Given the description of an element on the screen output the (x, y) to click on. 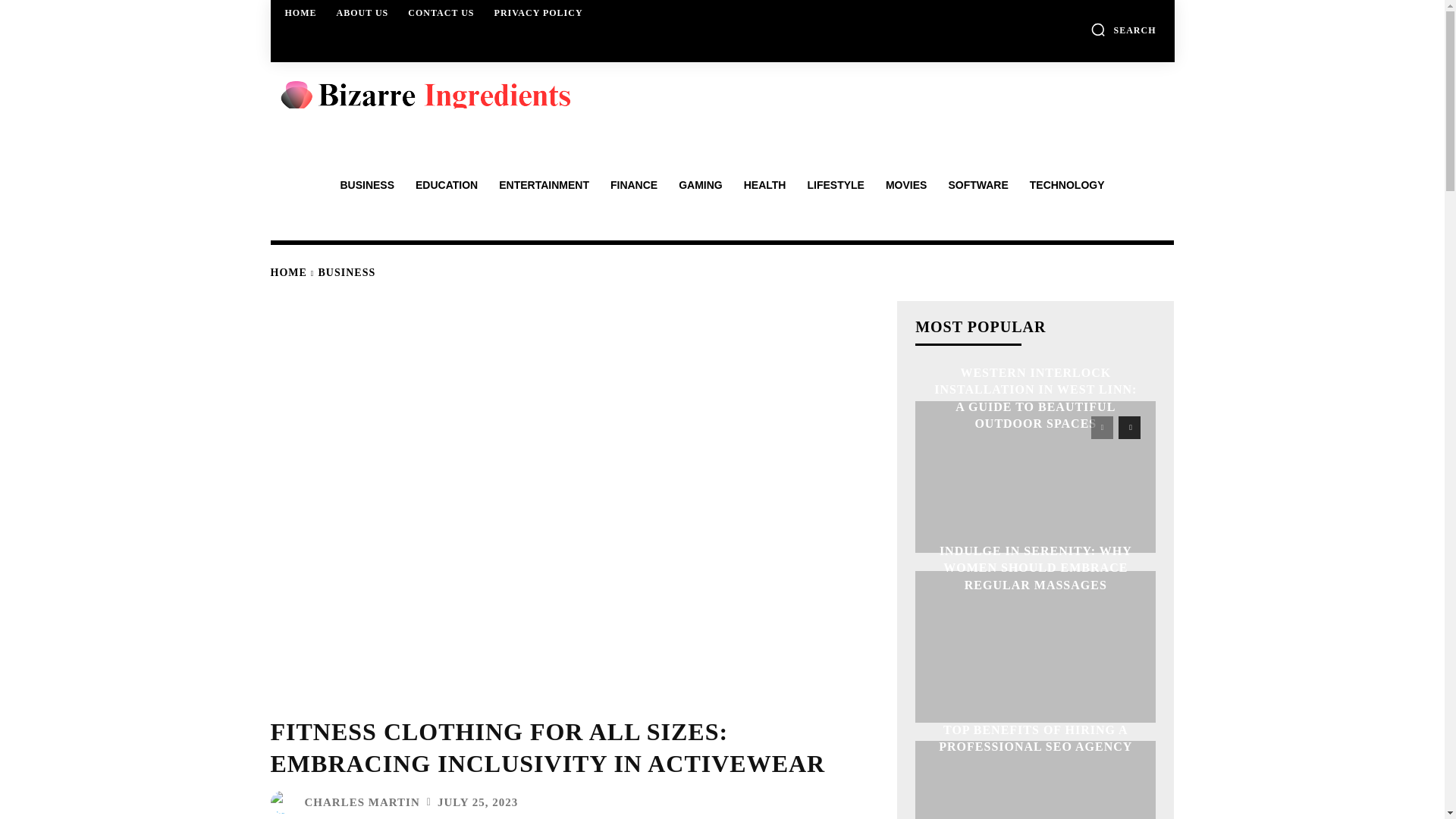
PRIVACY POLICY (538, 12)
View all posts in Business (346, 272)
MOVIES (906, 185)
Charles Martin (284, 802)
ENTERTAINMENT (543, 185)
LIFESTYLE (835, 185)
ABOUT US (362, 12)
CHARLES MARTIN (362, 802)
GAMING (700, 185)
TECHNOLOGY (1067, 185)
